Given the description of an element on the screen output the (x, y) to click on. 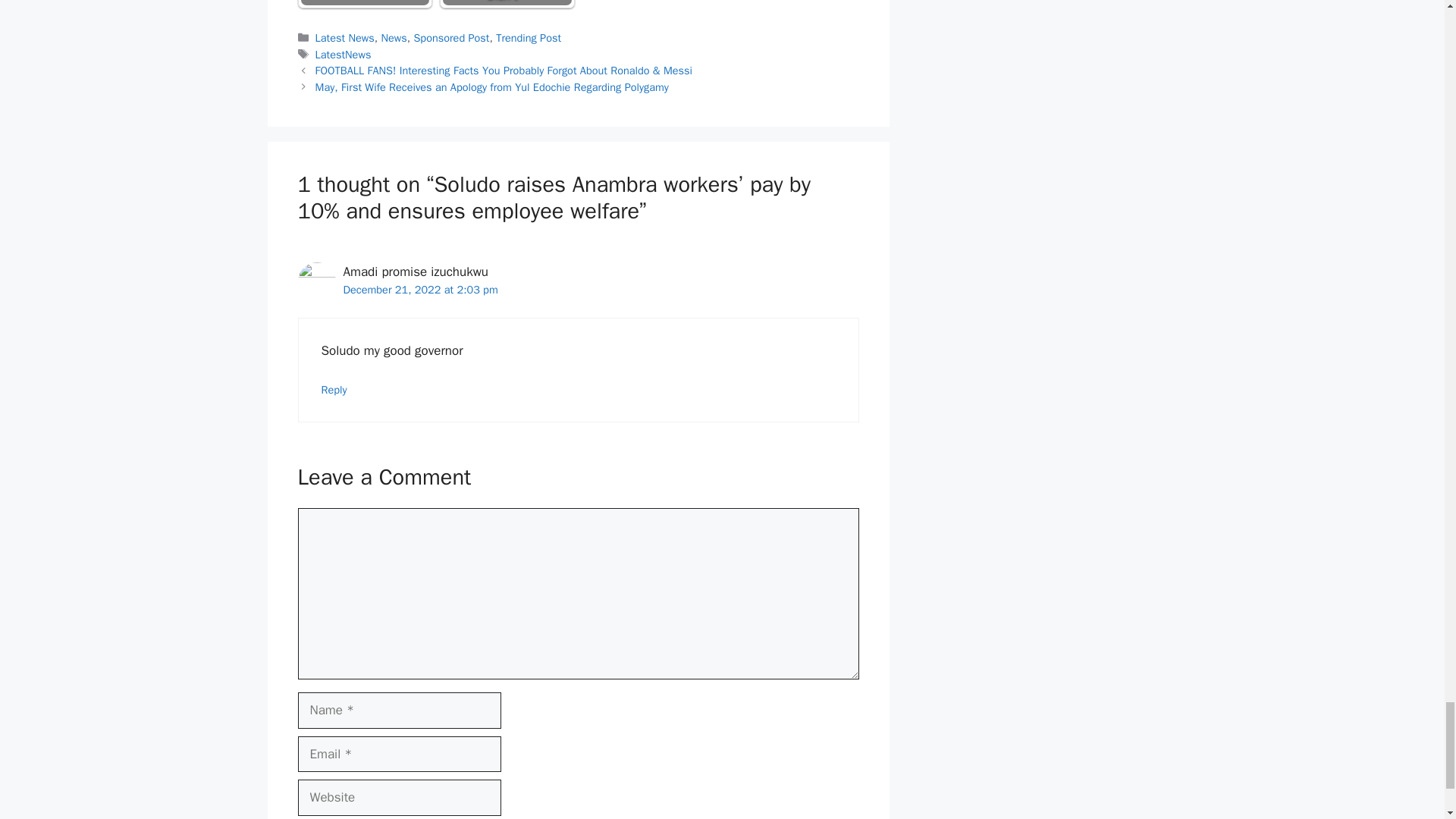
LatestNews (343, 54)
Reply (334, 389)
Trending Post (528, 38)
News (393, 38)
December 21, 2022 at 2:03 pm (419, 289)
Latest News (344, 38)
Sponsored Post (451, 38)
